Given the description of an element on the screen output the (x, y) to click on. 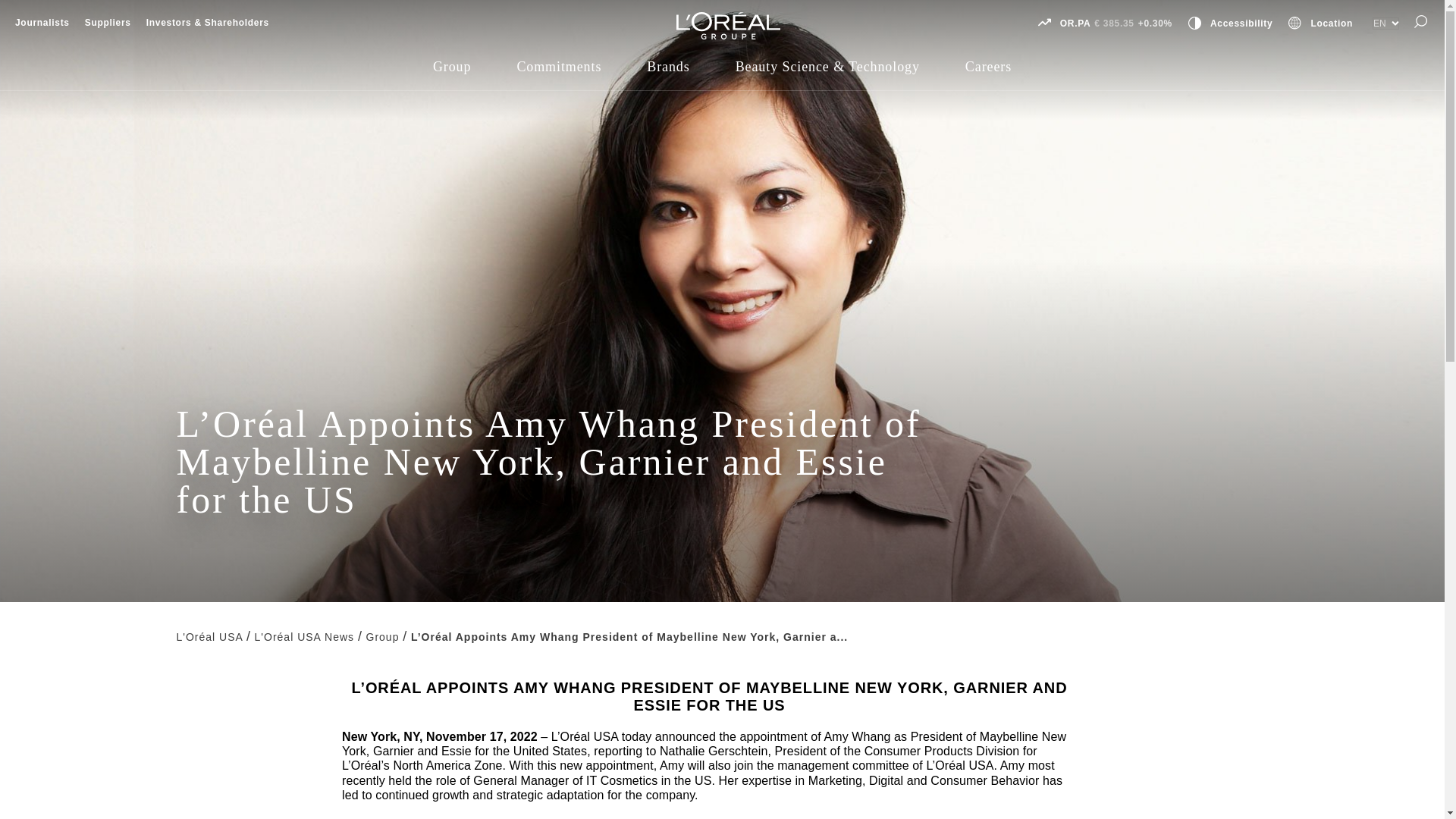
Journalists (41, 22)
Location (1331, 23)
Suppliers (107, 22)
Accessibility (1240, 23)
